Given the description of an element on the screen output the (x, y) to click on. 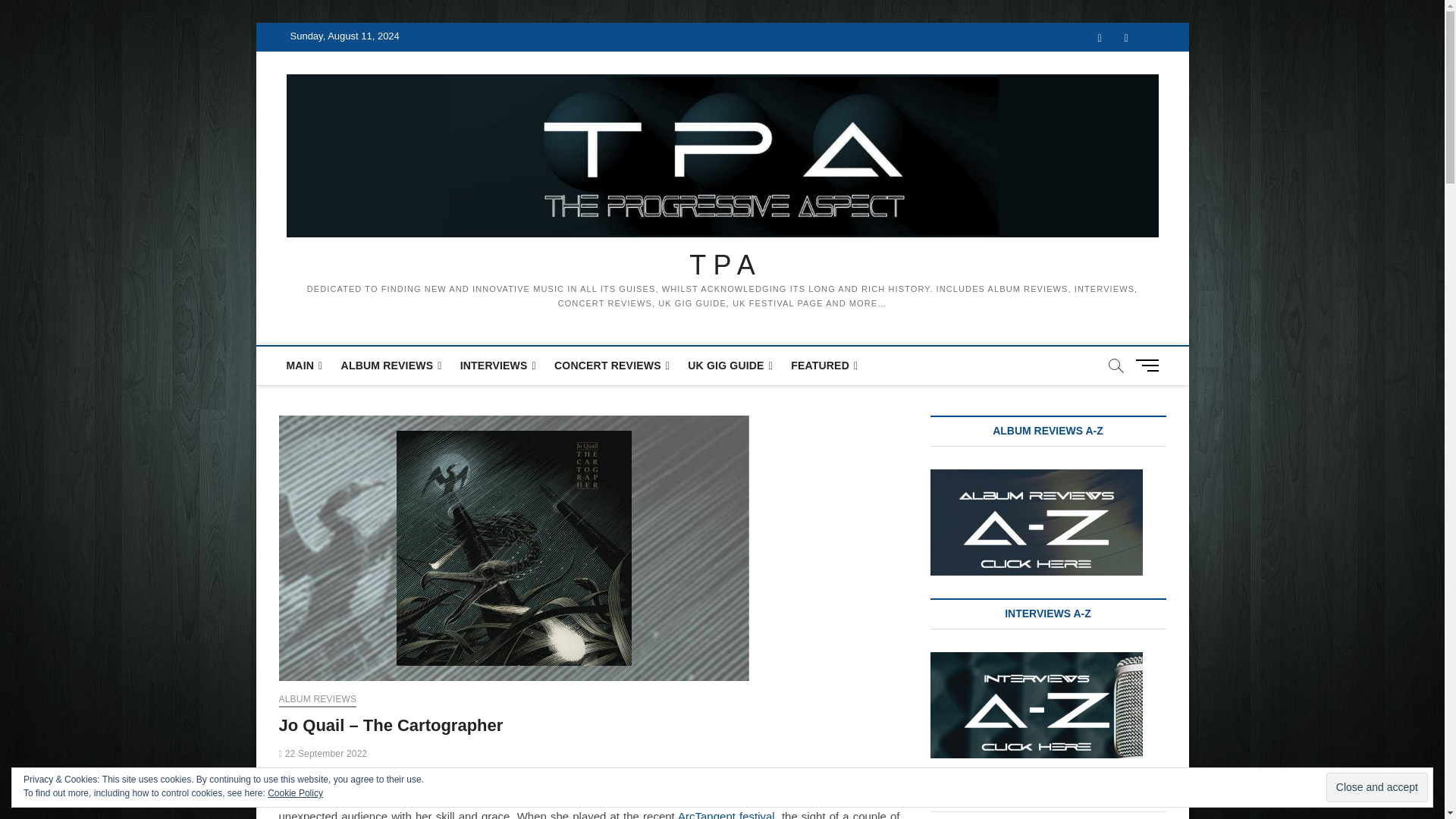
Close and accept (1377, 787)
ALBUM REVIEWS (391, 365)
FEATURED (823, 365)
22 September 2022 (323, 753)
CONCERT REVIEWS (612, 365)
ALBUM REVIEWS (317, 700)
MAIN (304, 365)
Facebook (1099, 38)
T P A (722, 264)
Twitter (1126, 38)
